Given the description of an element on the screen output the (x, y) to click on. 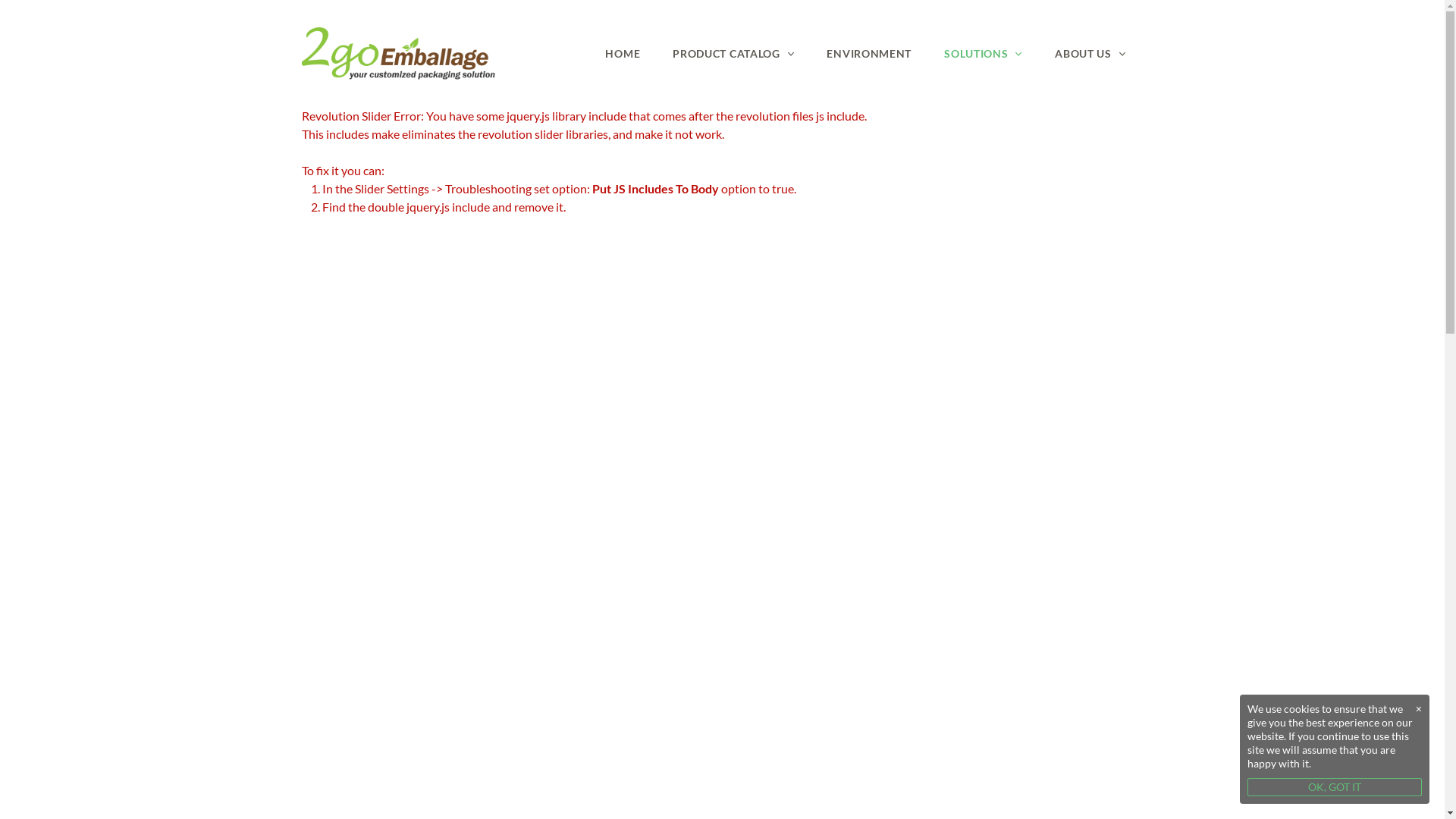
PRODUCT CATALOG Element type: text (733, 53)
OK, GOT IT Element type: text (1334, 787)
ABOUT US Element type: text (1089, 53)
HOME Element type: text (622, 53)
2go Emballage Element type: hover (398, 53)
SOLUTIONS Element type: text (982, 53)
ENVIRONMENT Element type: text (868, 53)
